Given the description of an element on the screen output the (x, y) to click on. 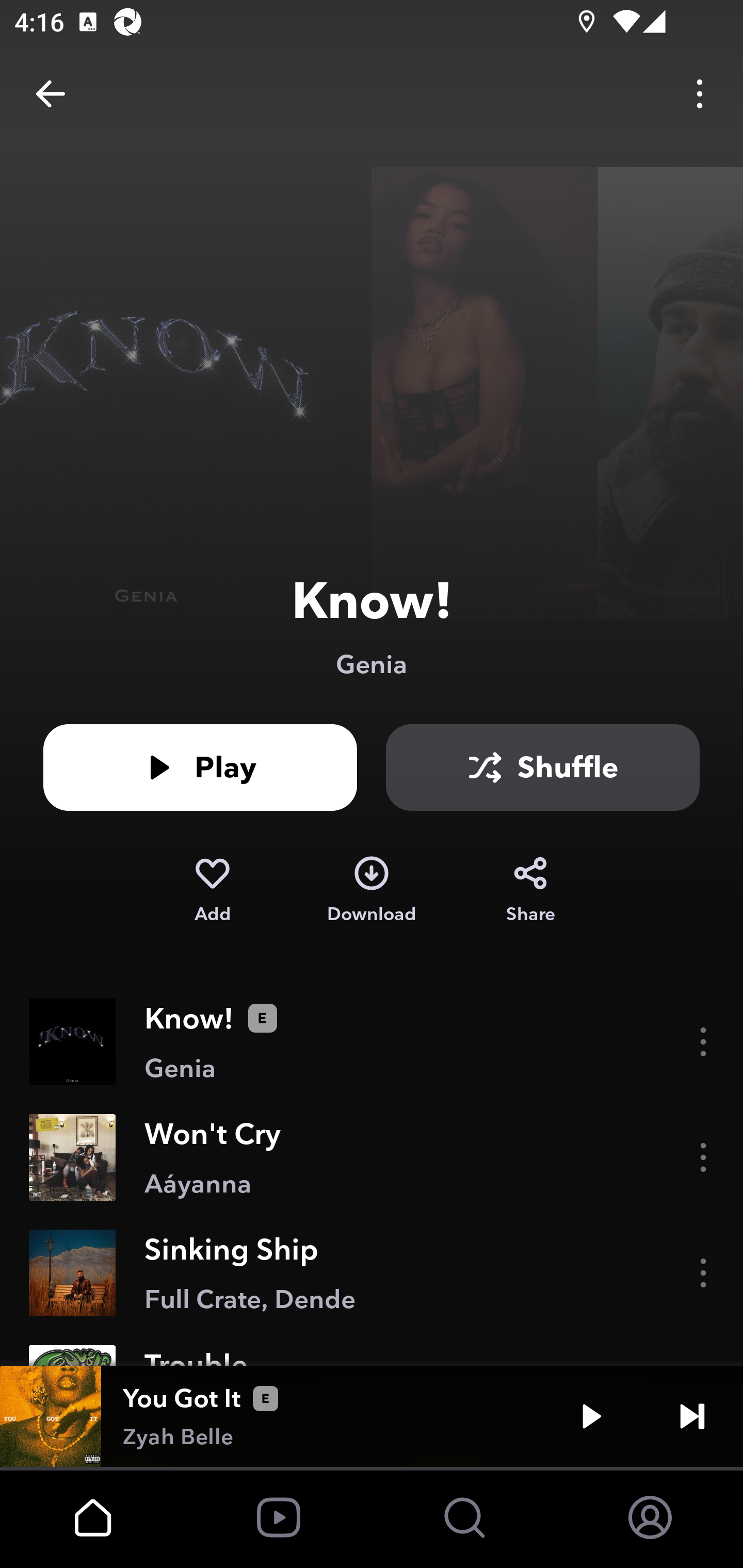
Options (699, 93)
Play (200, 767)
Shuffle (542, 767)
Add (211, 890)
Download (371, 890)
Share (530, 890)
Know! Genia (371, 1041)
Won't Cry Aáyanna (371, 1157)
Sinking Ship Full Crate, Dende (371, 1273)
You Got It    Zyah Belle Play (371, 1416)
Play (590, 1416)
